Given the description of an element on the screen output the (x, y) to click on. 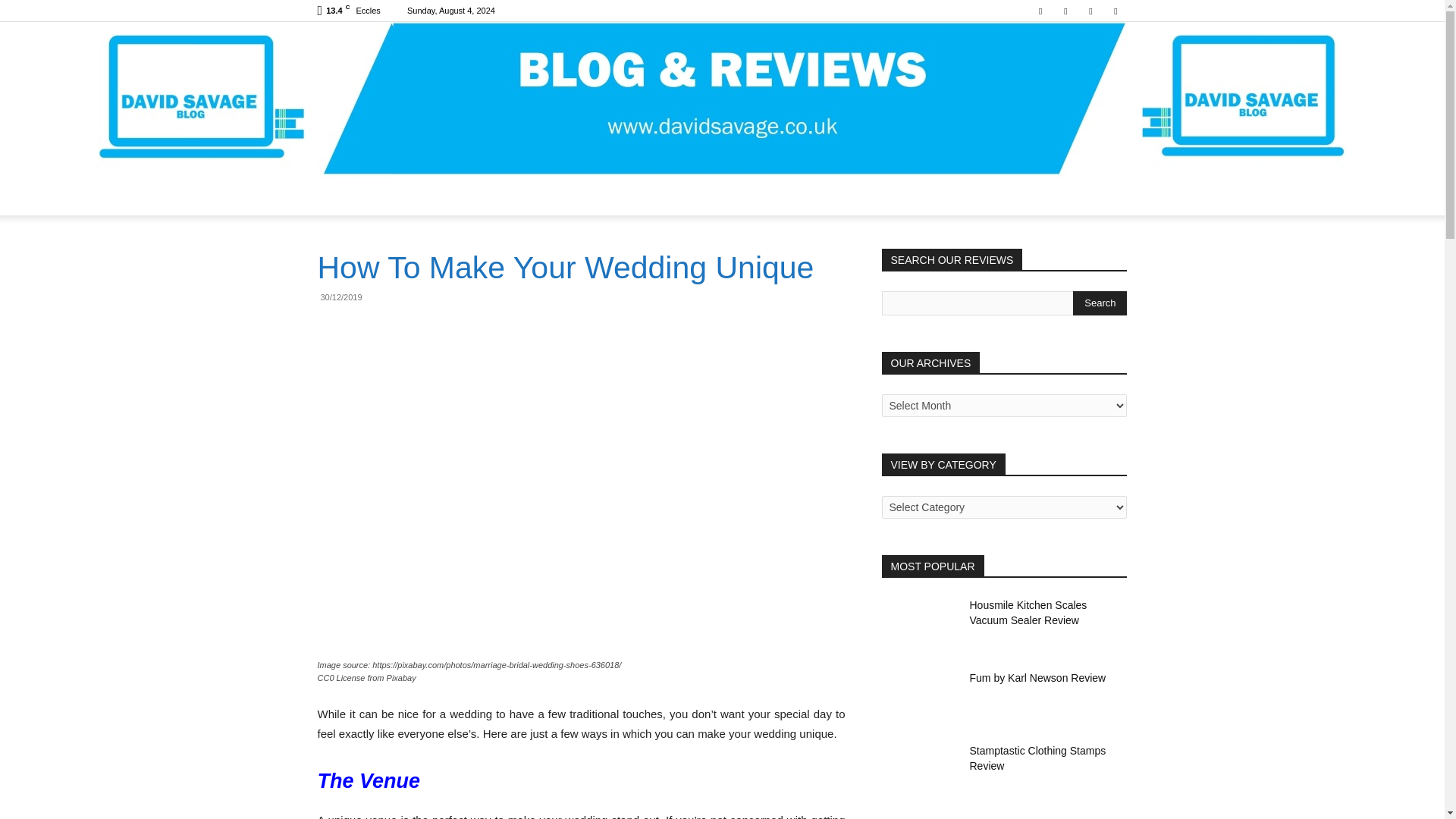
RSS (1090, 10)
HOME (343, 197)
Search (1099, 303)
ABOUT (399, 197)
Twitter (1114, 10)
Facebook (1040, 10)
Mail (1065, 10)
